Given the description of an element on the screen output the (x, y) to click on. 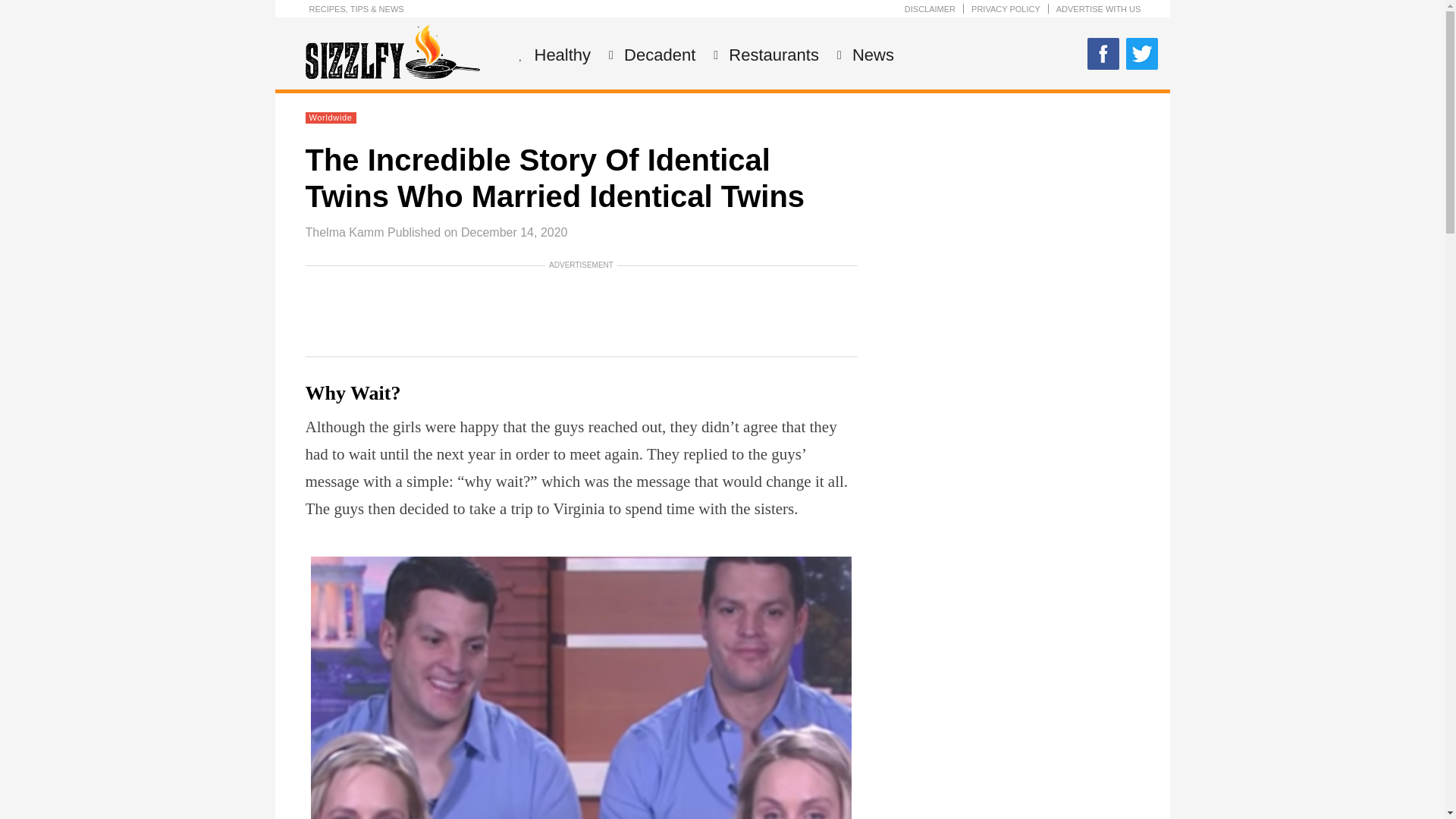
Healthy (561, 55)
News (870, 55)
PRIVACY POLICY (1006, 8)
Worldwide (330, 117)
Restaurants (771, 55)
ADVERTISE WITH US (1099, 8)
Sizzlfy (391, 74)
Decadent (657, 55)
DISCLAIMER (929, 8)
Thelma Kamm (344, 232)
